Given the description of an element on the screen output the (x, y) to click on. 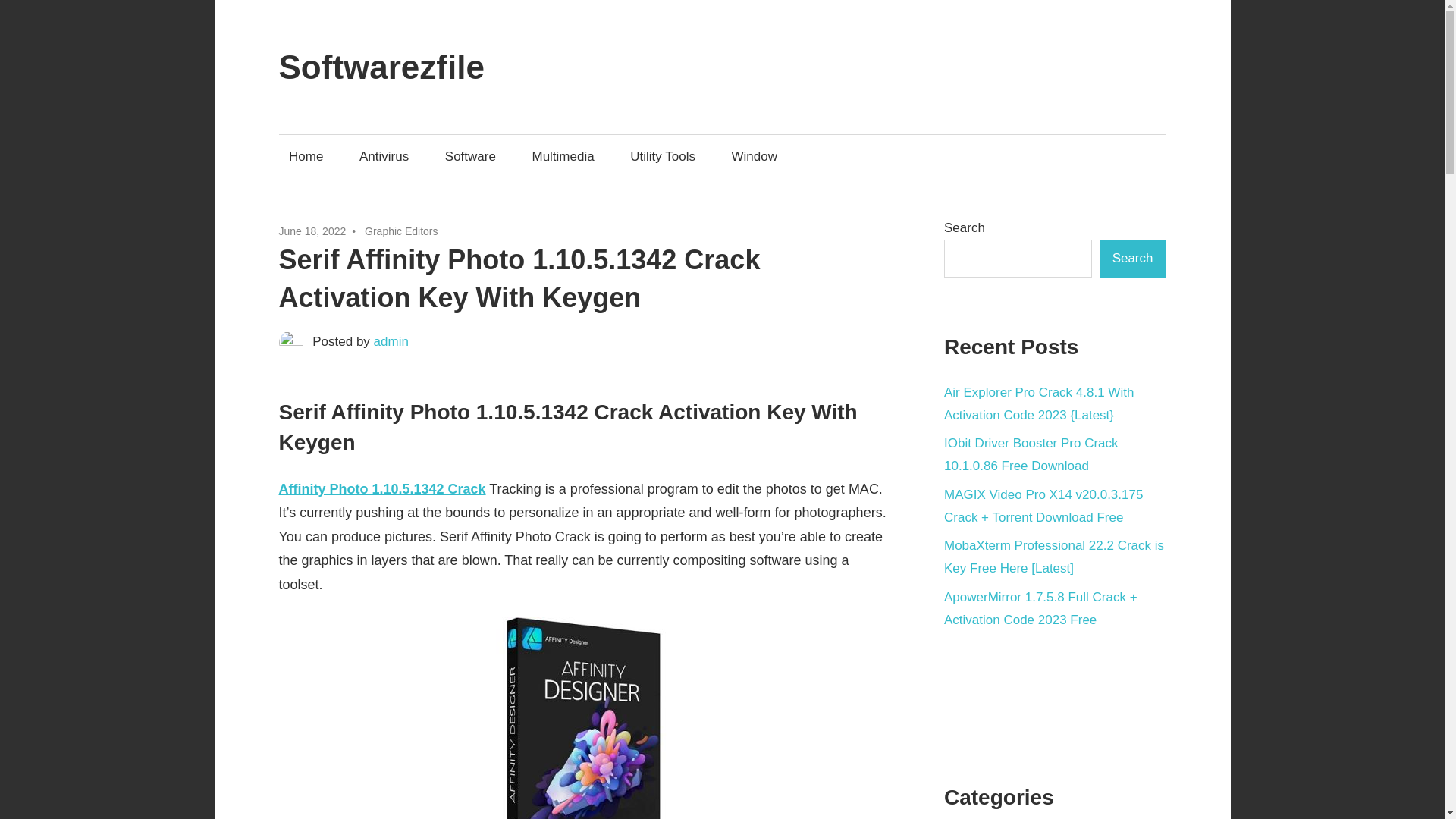
Affinity Photo 1.10.5.1342 Crack (382, 488)
Multimedia (562, 156)
Software (469, 156)
Home (306, 156)
June 18, 2022 (312, 231)
Utility Tools (663, 156)
Softwarezfile (381, 66)
Antivirus (384, 156)
Graphic Editors (401, 231)
Window (753, 156)
admin (391, 341)
View all posts by admin (391, 341)
11:24 am (312, 231)
